Given the description of an element on the screen output the (x, y) to click on. 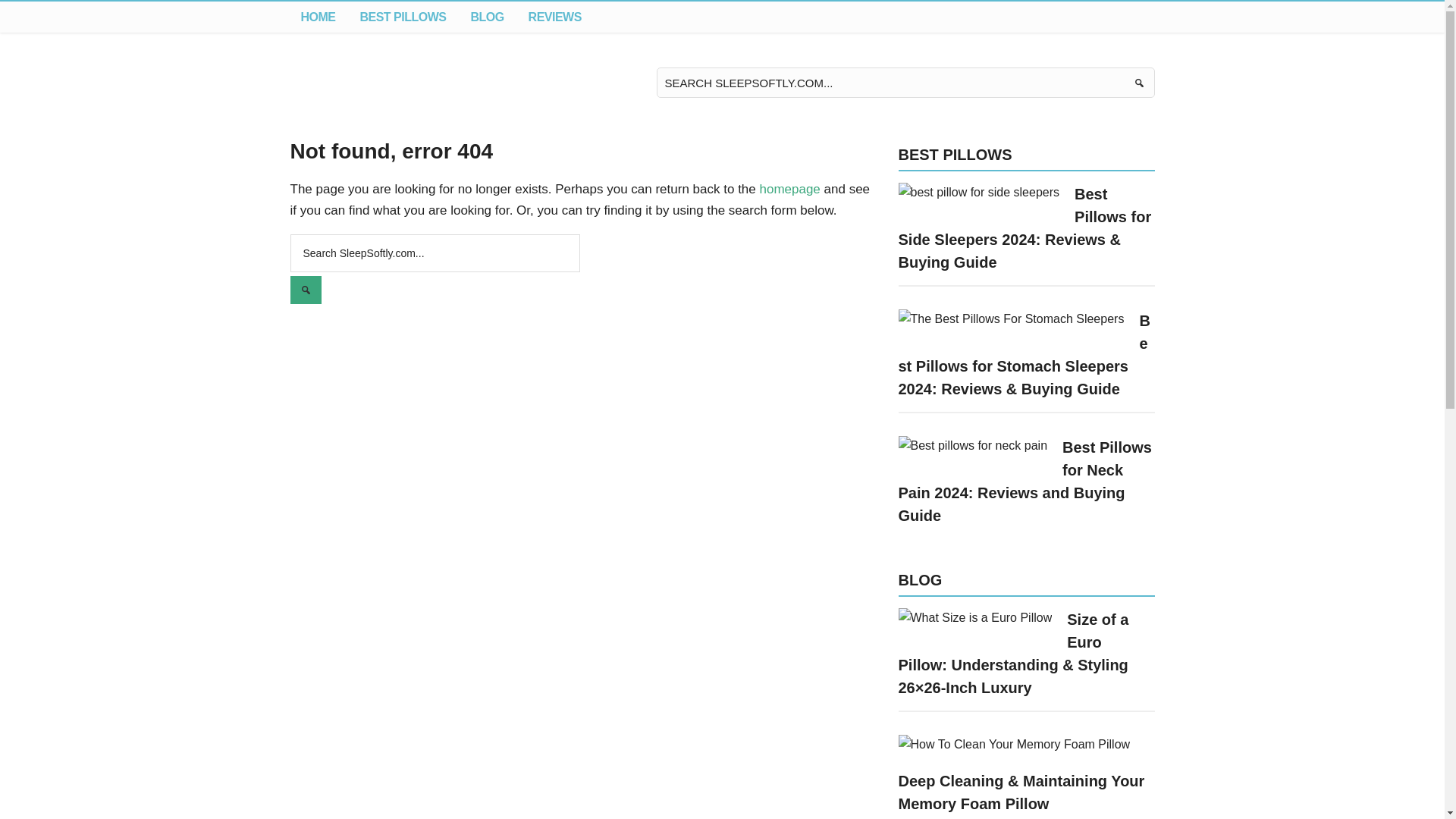
HOME (317, 16)
homepage (788, 188)
Best Pillows for Neck Pain 2024: Reviews and Buying Guide (1024, 481)
SleepSoftly (364, 82)
REVIEWS (555, 16)
BLOG (486, 16)
BEST PILLOWS (403, 16)
Home Page (317, 16)
